Given the description of an element on the screen output the (x, y) to click on. 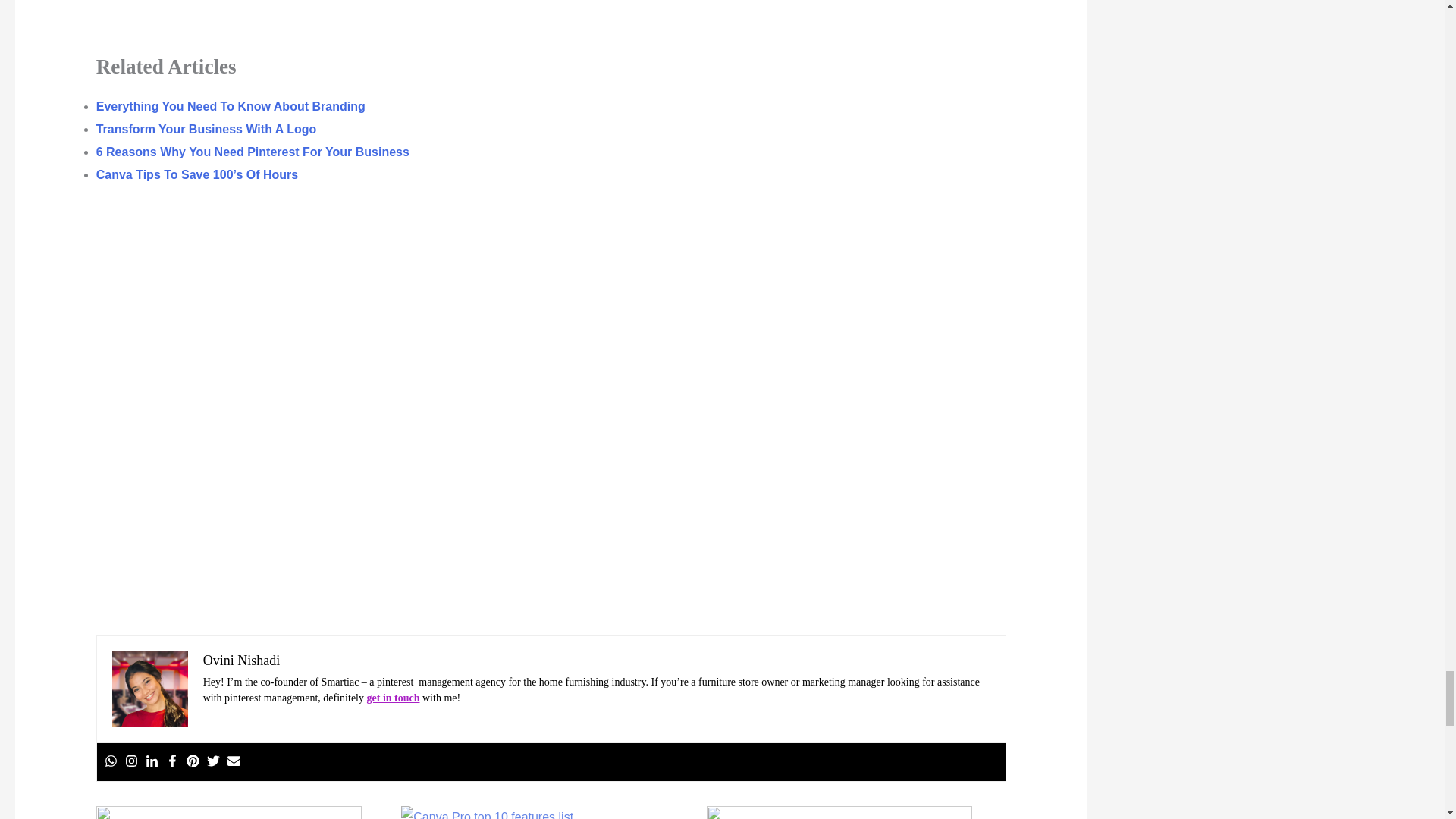
Top 10 Reasons Why You Need Canva Pro (546, 812)
How To Create Presentations On Canva (241, 812)
